Given the description of an element on the screen output the (x, y) to click on. 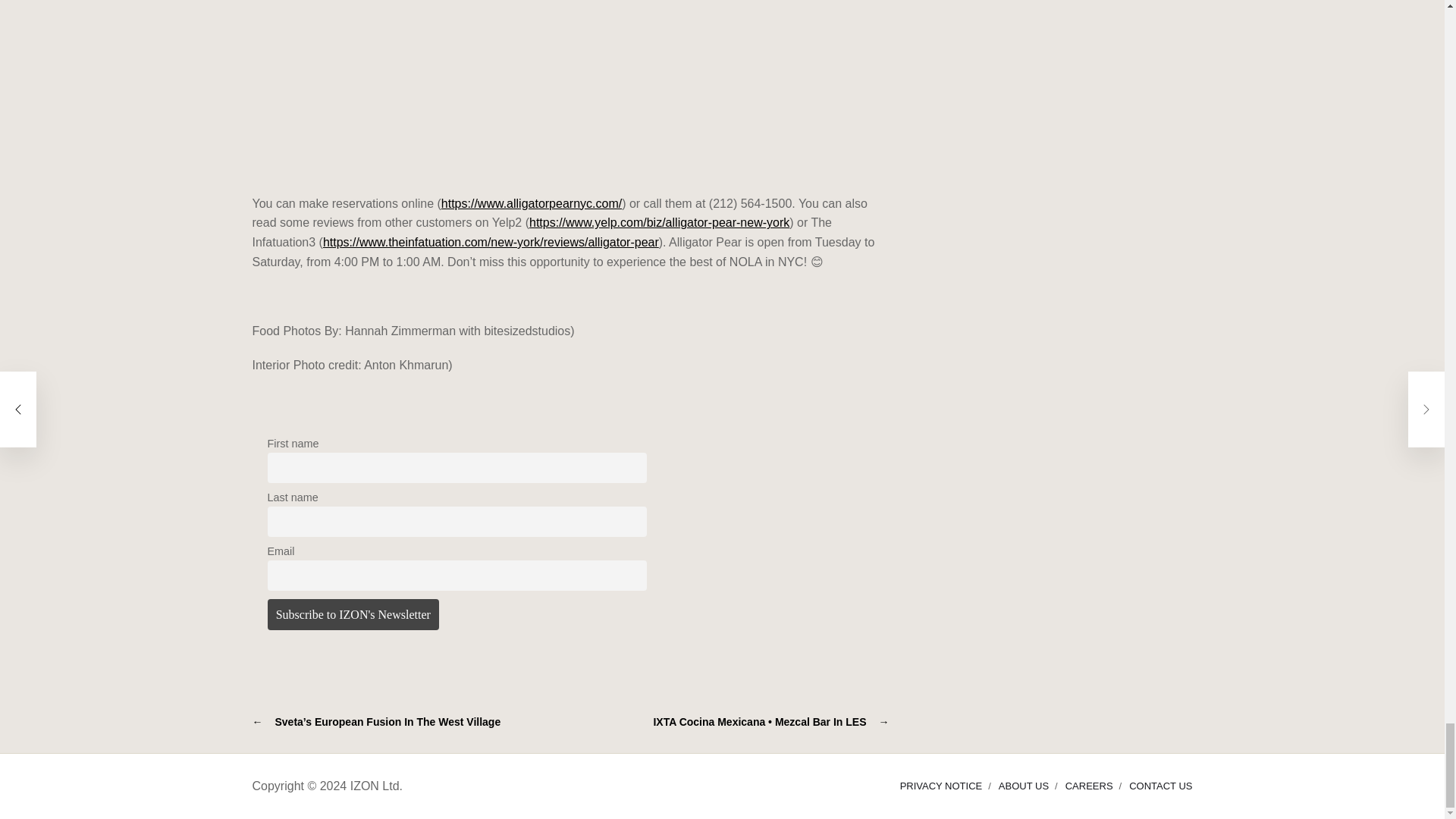
Subscribe to IZON's Newsletter (352, 613)
Subscribe to IZON's Newsletter (352, 613)
